Given the description of an element on the screen output the (x, y) to click on. 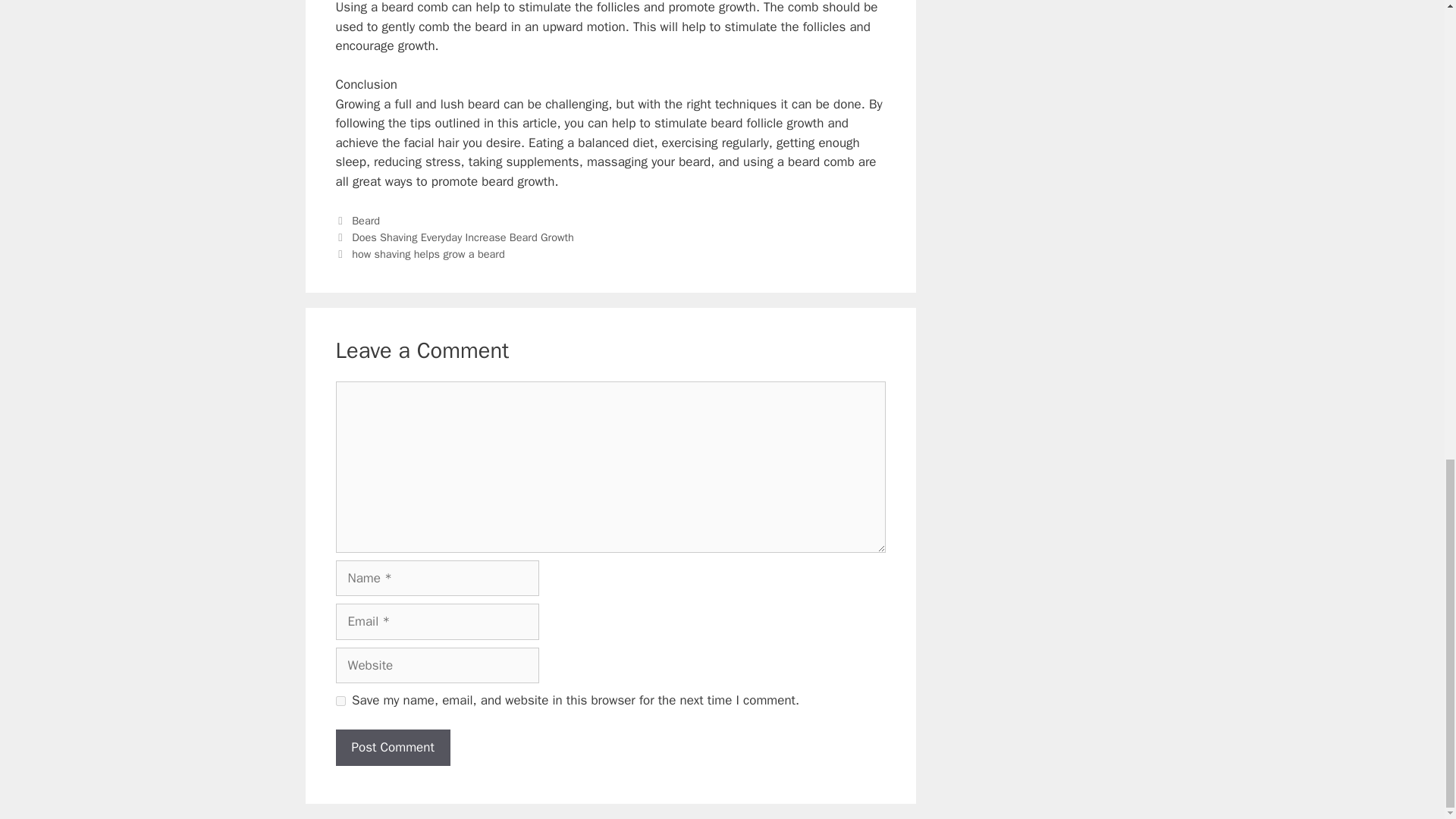
yes (339, 700)
Beard (366, 220)
how shaving helps grow a beard (428, 254)
Post Comment (391, 747)
Does Shaving Everyday Increase Beard Growth (462, 237)
Post Comment (391, 747)
